Given the description of an element on the screen output the (x, y) to click on. 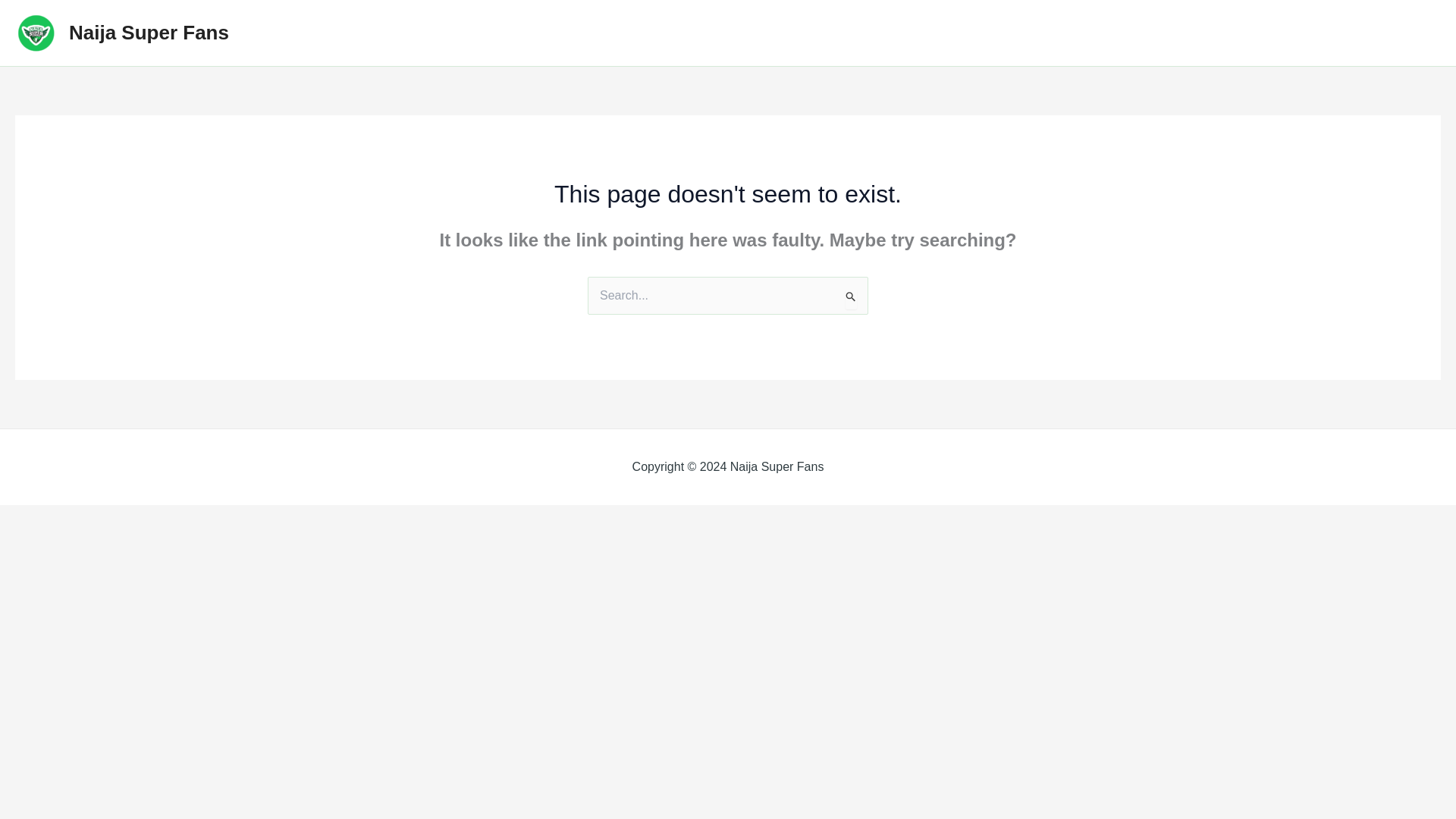
Naija Super Fans (148, 32)
Search (850, 297)
Search (850, 297)
Search (850, 297)
